Given the description of an element on the screen output the (x, y) to click on. 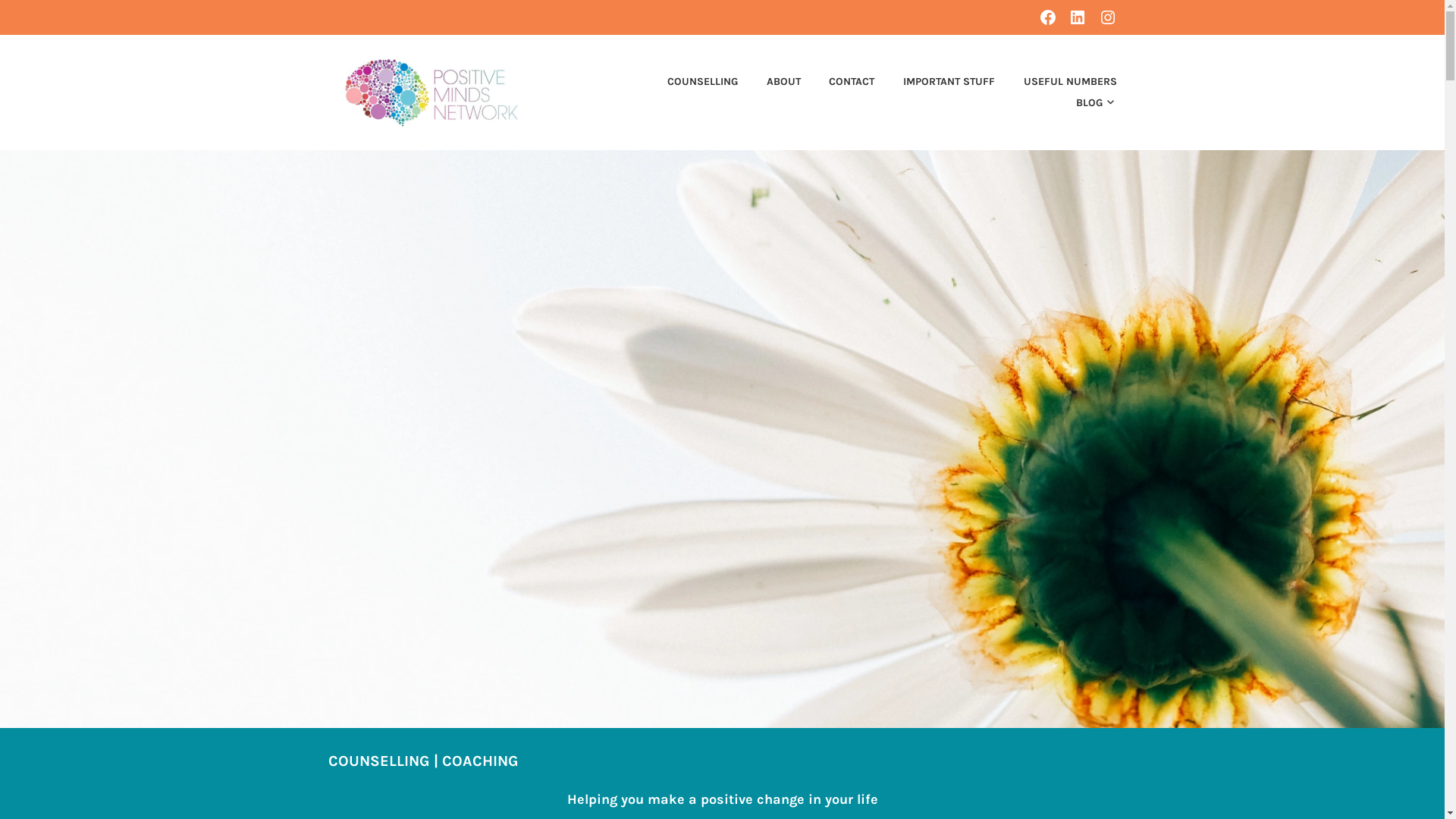
COUNSELLING FOR BEHAVIOUR CHANGE Element type: text (784, 86)
LINKEDIN Element type: text (1077, 16)
USEFUL NUMBERS Element type: text (1057, 81)
ABOUT Element type: text (770, 81)
Search Element type: text (45, 17)
BLOG Element type: text (1083, 102)
FACEBOOK Element type: text (1047, 16)
COUNSELLING Element type: text (690, 81)
INSTAGRAM Element type: text (1107, 16)
CONTACT Element type: text (839, 81)
IMPORTANT STUFF Element type: text (935, 81)
